Given the description of an element on the screen output the (x, y) to click on. 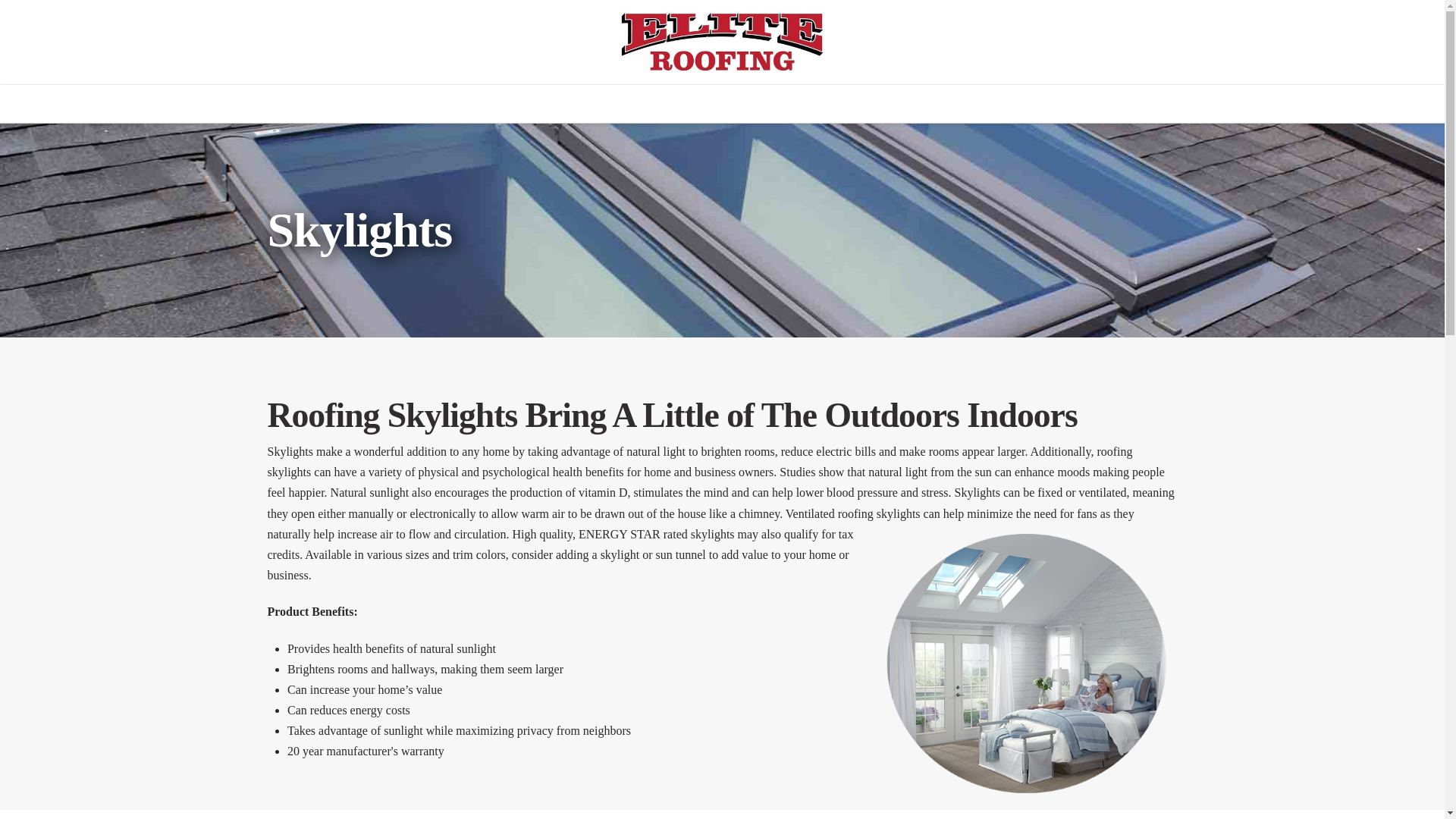
Services (477, 103)
About Us (859, 103)
Contact Us (962, 103)
Photo Gallery (747, 103)
Roofing Products (608, 103)
